Given the description of an element on the screen output the (x, y) to click on. 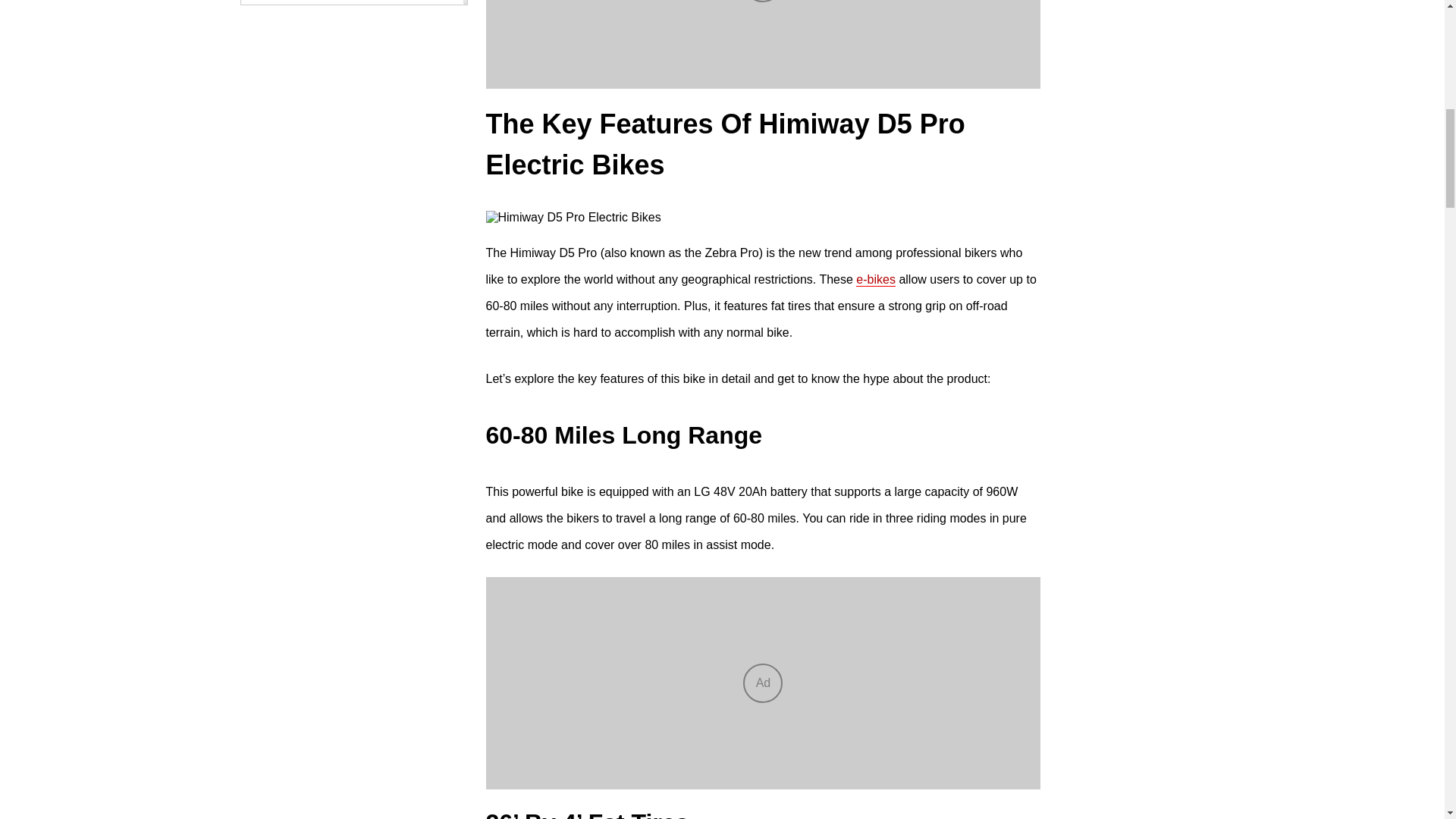
Conclusion (283, 278)
Brighter Spotlight (324, 228)
7-Speed Shimano Speed Shifter (359, 20)
e-bikes (875, 279)
Himiway Key Display (332, 190)
Thru-Axle Fork Upgrade (339, 59)
Torque Sensor (316, 96)
Upgraded Himiway Comfort Saddle (349, 143)
